Given the description of an element on the screen output the (x, y) to click on. 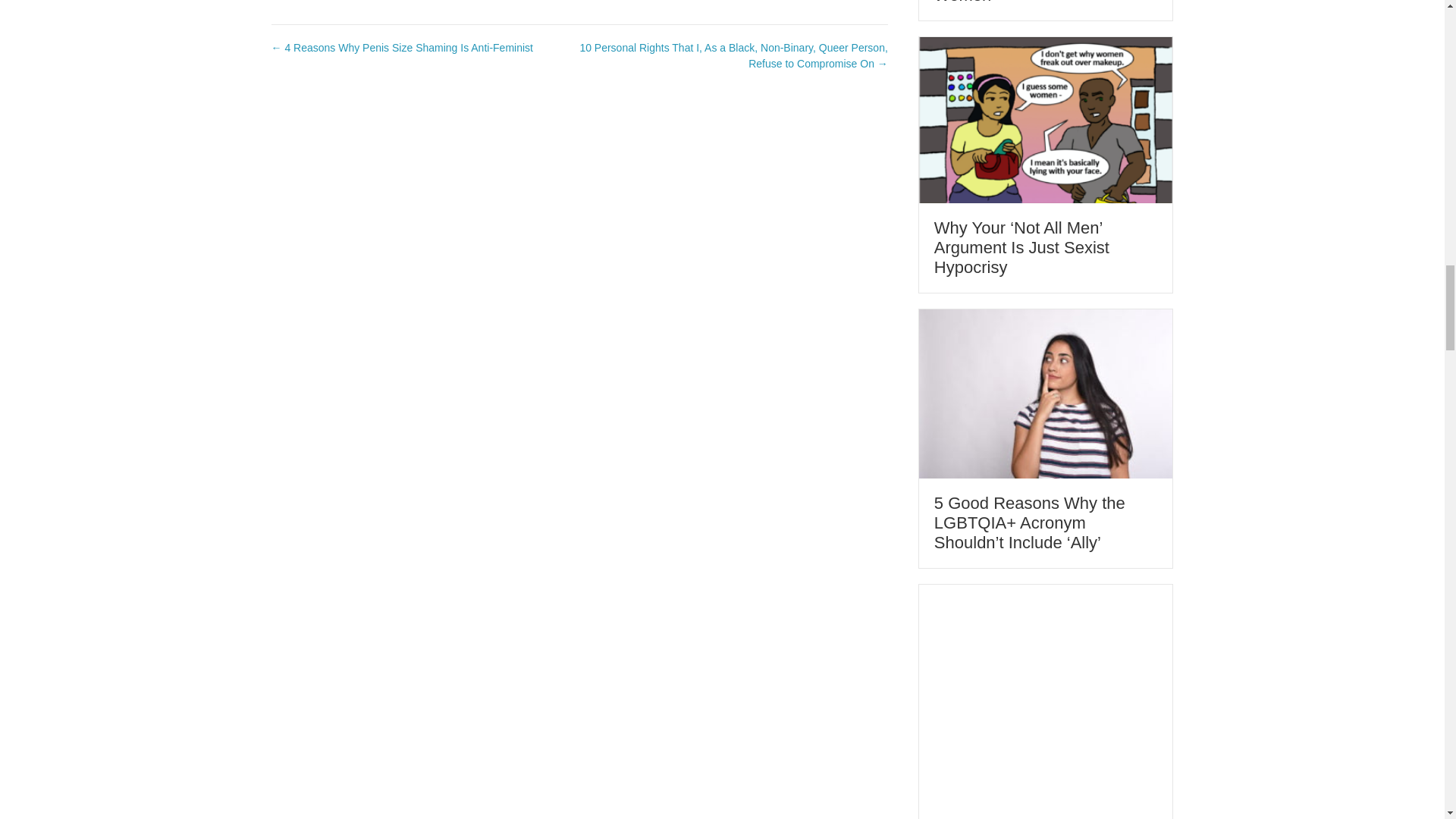
4 Ways Mainstream Feminism Fails Muslim Women (1018, 2)
